Given the description of an element on the screen output the (x, y) to click on. 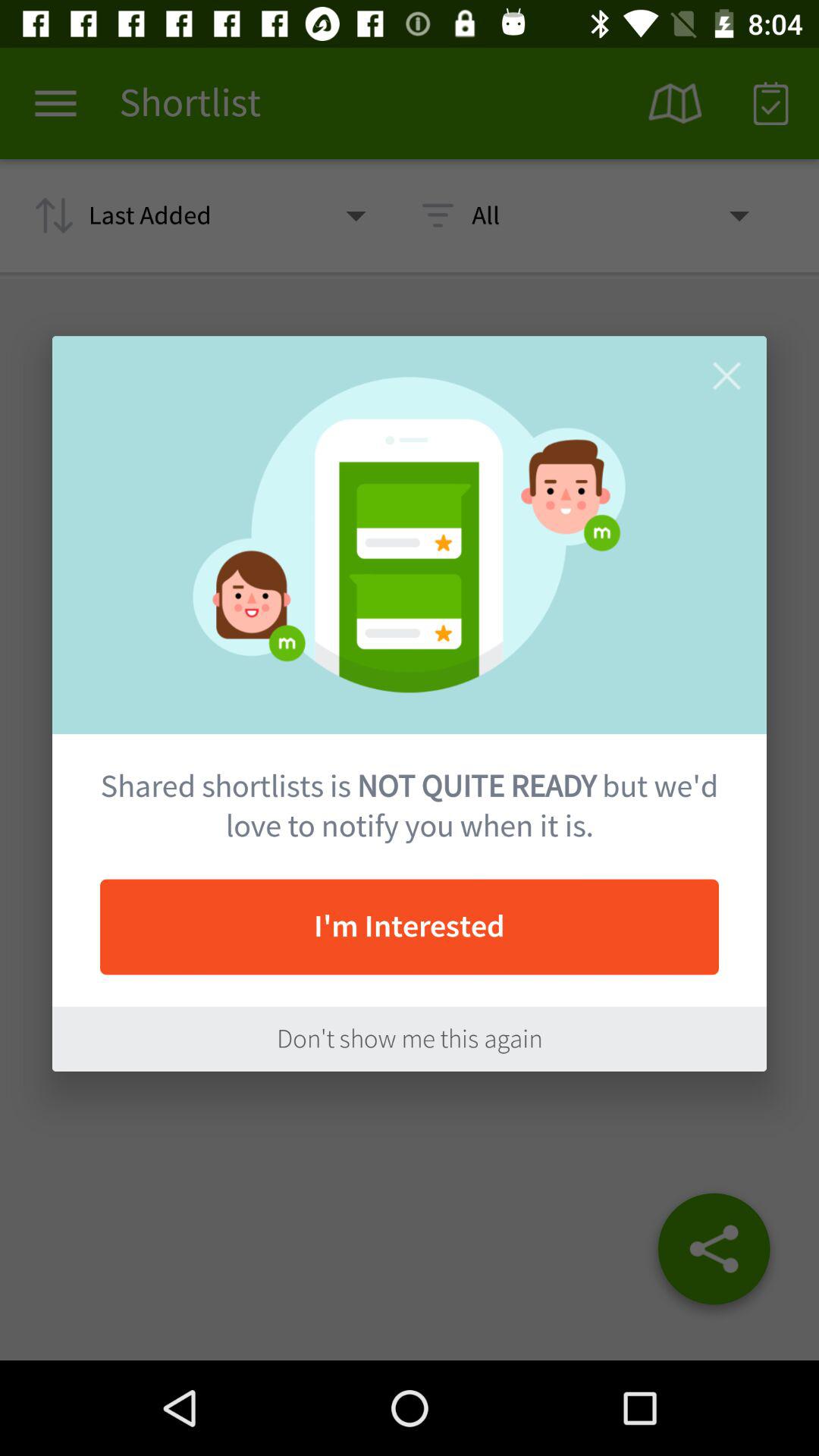
click the don t show (409, 1038)
